Given the description of an element on the screen output the (x, y) to click on. 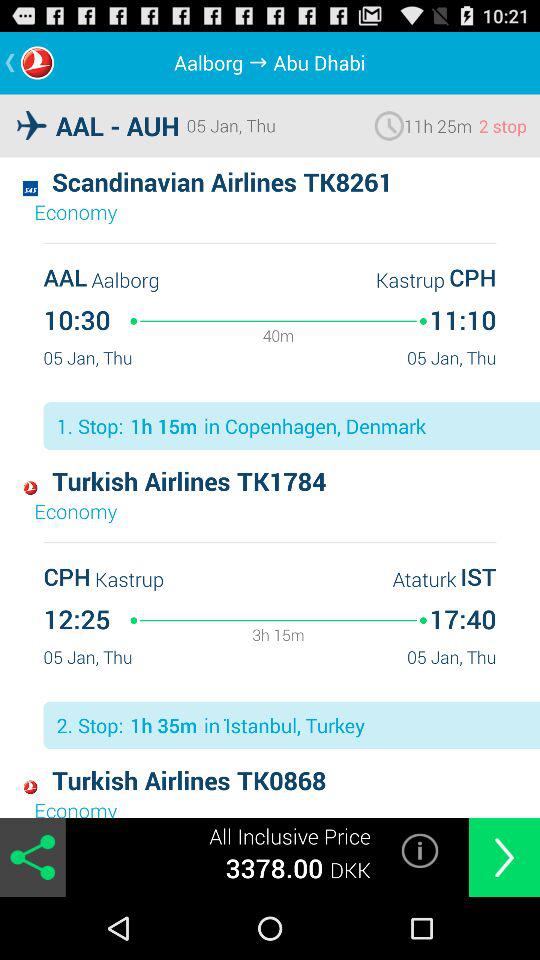
turn off the icon next to the all inclusive price (419, 850)
